Given the description of an element on the screen output the (x, y) to click on. 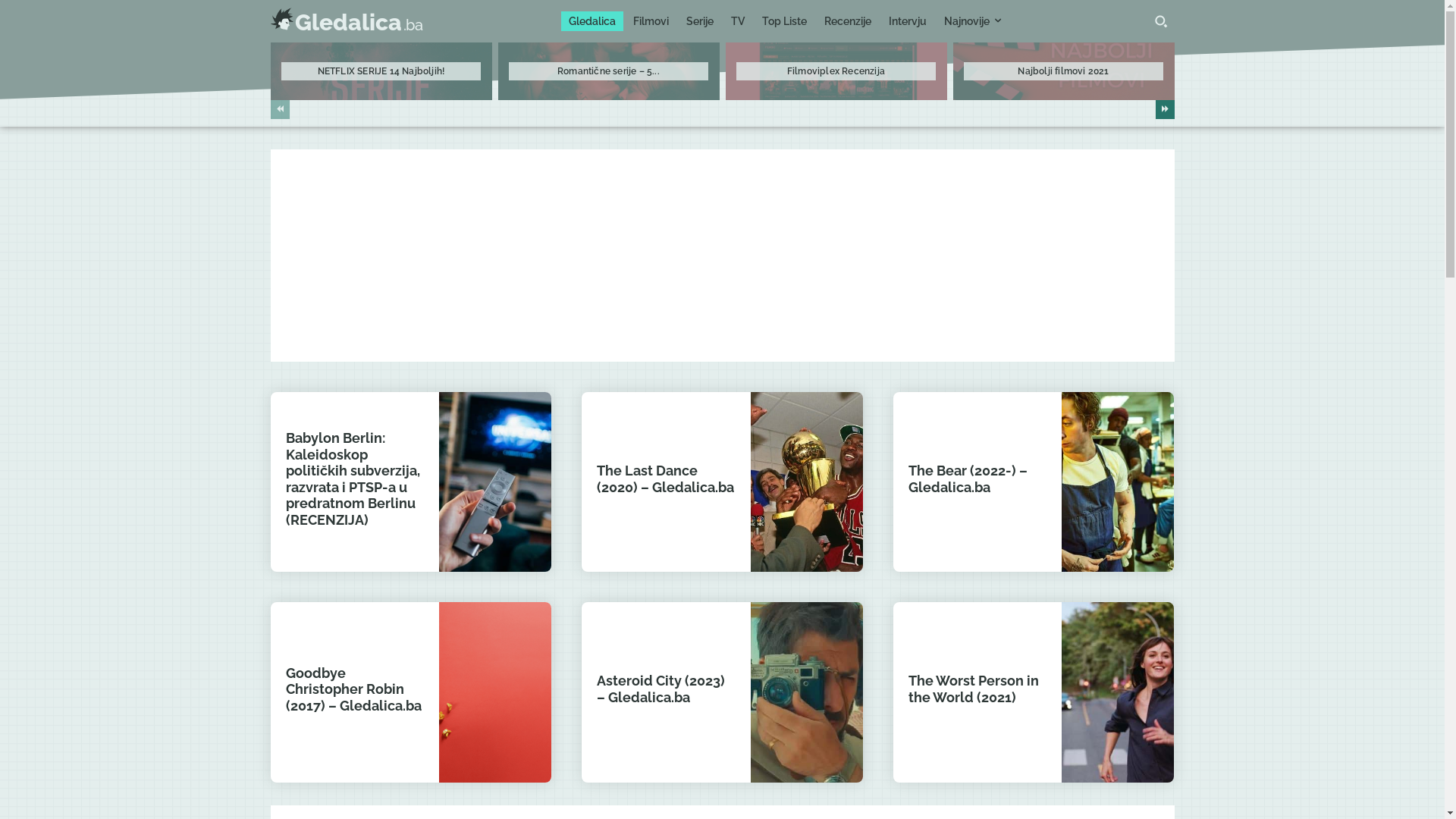
The Worst Person in the World (2021) Element type: text (973, 688)
NETFLIX SERIJE 14 Najboljih! Element type: text (381, 70)
TV Element type: text (737, 21)
Gledalica Element type: text (592, 21)
Najbolji filmovi 2021 Element type: text (1062, 70)
Recenzije Element type: text (847, 21)
Serije Element type: text (699, 21)
Najnovije Element type: text (972, 21)
Najbolji filmovi 2021 Element type: hover (1062, 71)
Gledalica
.ba Element type: text (345, 20)
Filmovi Element type: text (650, 21)
The Worst Person in the World (2021) Element type: hover (1117, 691)
Filmoviplex Recenzija Element type: text (835, 70)
Filmoviplex Recenzija Element type: hover (835, 71)
Intervju Element type: text (907, 21)
NETFLIX SERIJE 14 Najboljih! Element type: hover (380, 71)
Advertisement Element type: hover (721, 255)
Top Liste Element type: text (784, 21)
